Given the description of an element on the screen output the (x, y) to click on. 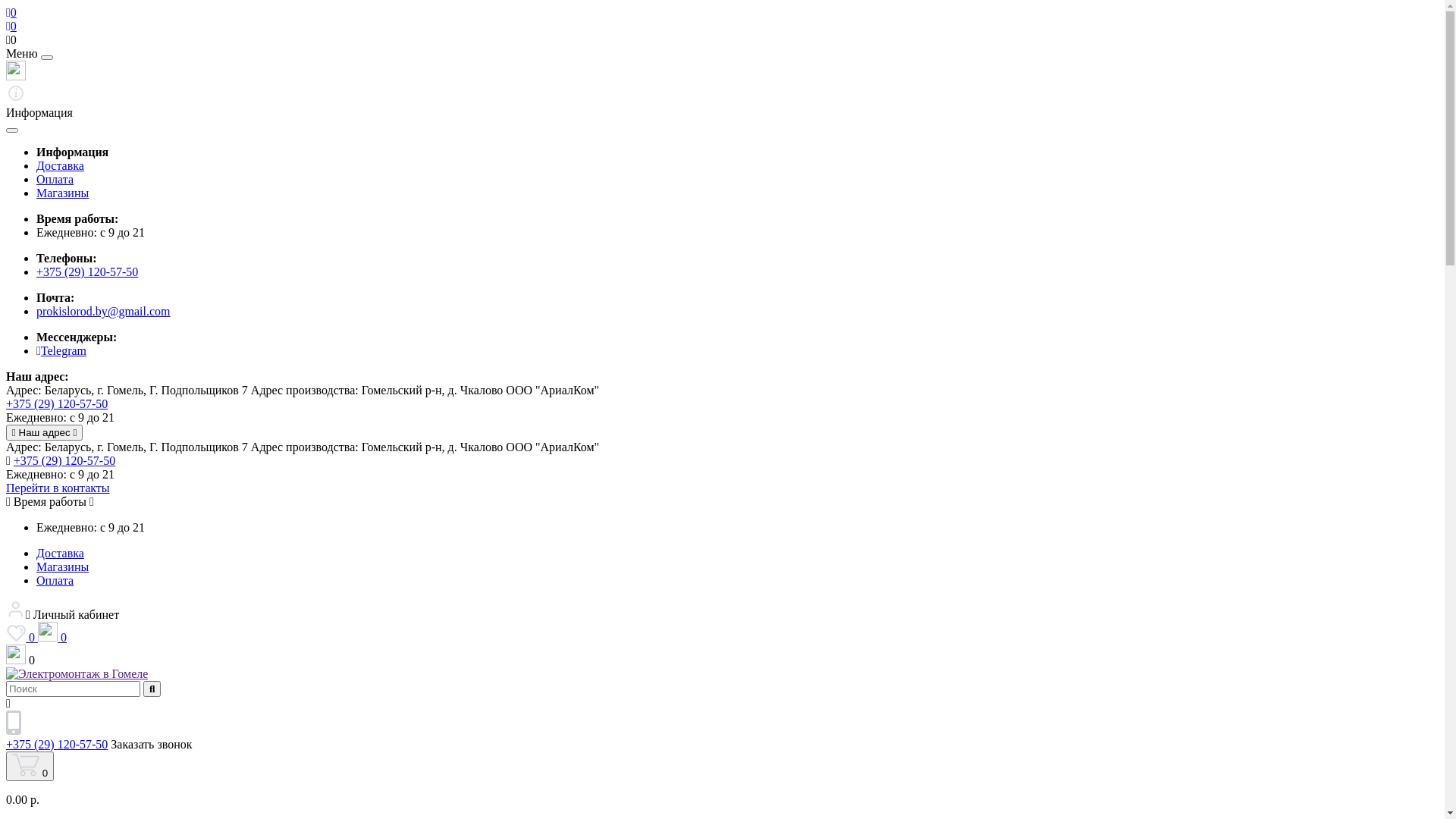
0 Element type: text (11, 12)
0 Element type: text (29, 766)
+375 (29) 120-57-50 Element type: text (56, 403)
0 Element type: text (51, 636)
+375 (29) 120-57-50 Element type: text (87, 271)
0 Element type: text (722, 655)
+375 (29) 120-57-50 Element type: text (64, 460)
Telegram Element type: text (61, 350)
prokislorod.by@gmail.com Element type: text (103, 310)
0 Element type: text (11, 25)
0 Element type: text (21, 636)
0 Element type: text (722, 40)
+375 (29) 120-57-50 Element type: text (56, 743)
